Given the description of an element on the screen output the (x, y) to click on. 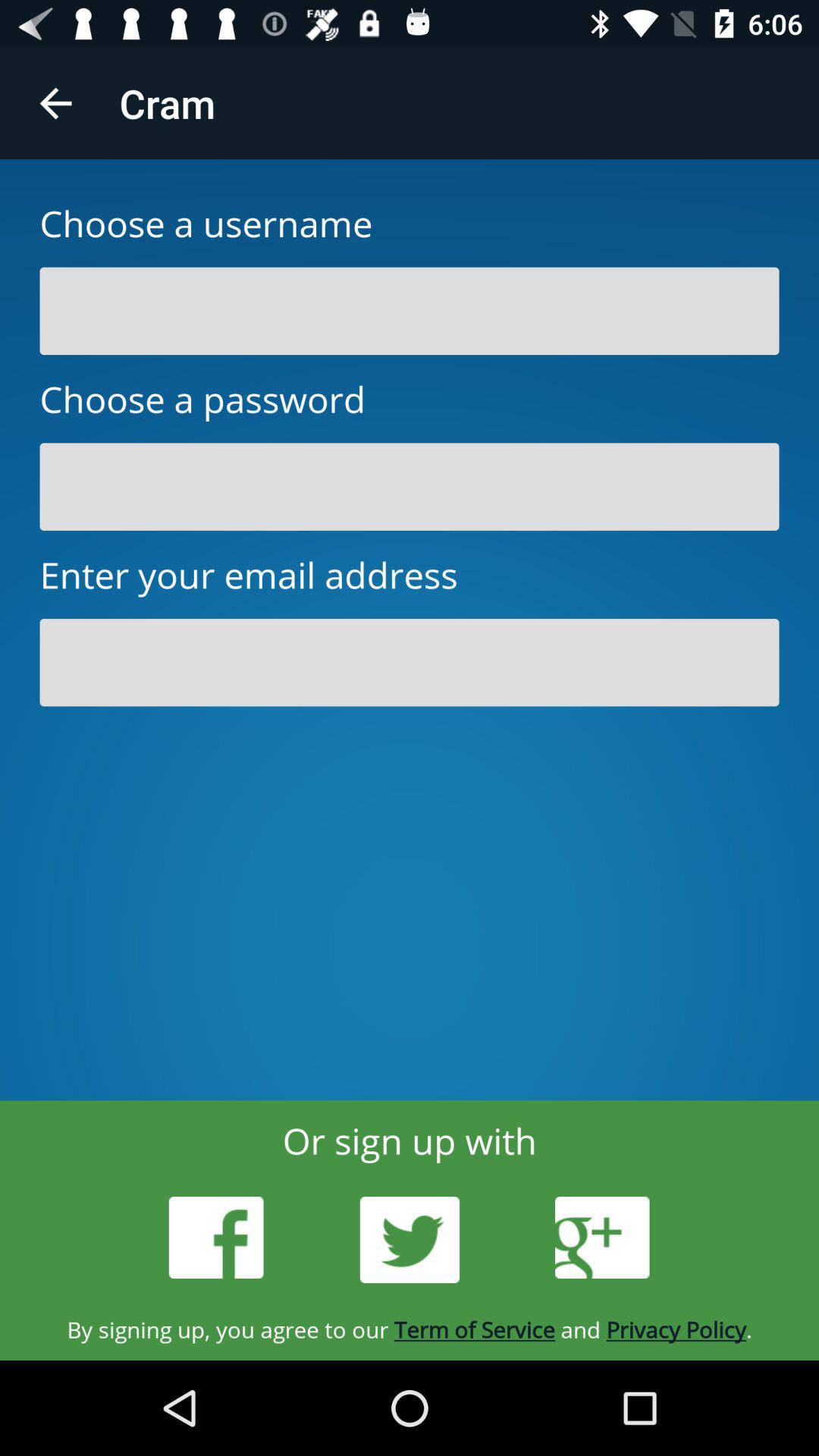
choose a username (409, 310)
